Given the description of an element on the screen output the (x, y) to click on. 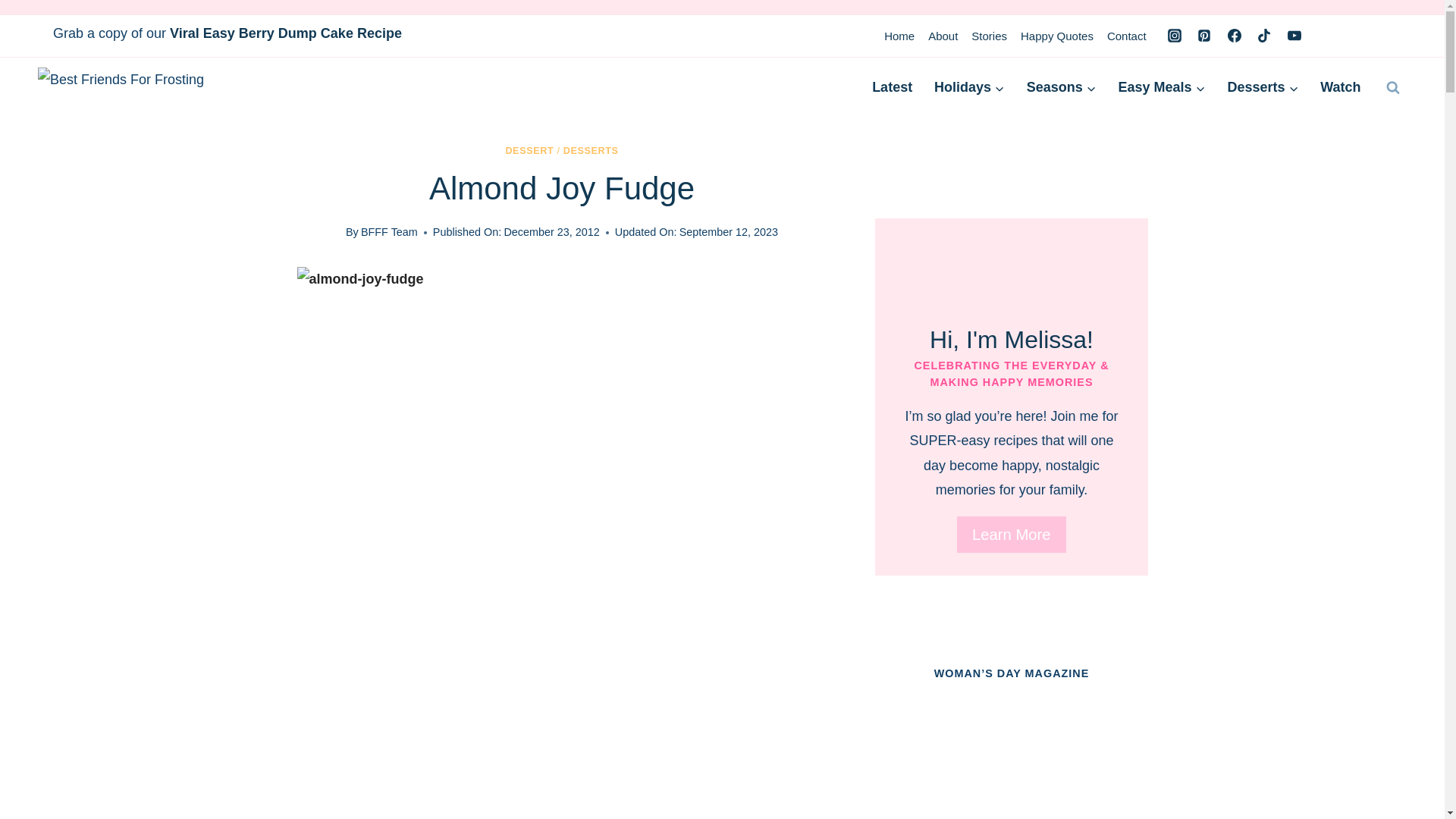
Latest (892, 87)
Happy Quotes (1056, 35)
Home (899, 35)
About (942, 35)
Stories (988, 35)
Seasons (1060, 87)
Holidays (969, 87)
Contact (1126, 35)
Viral Easy Berry Dump Cake Recipe (285, 32)
